Given the description of an element on the screen output the (x, y) to click on. 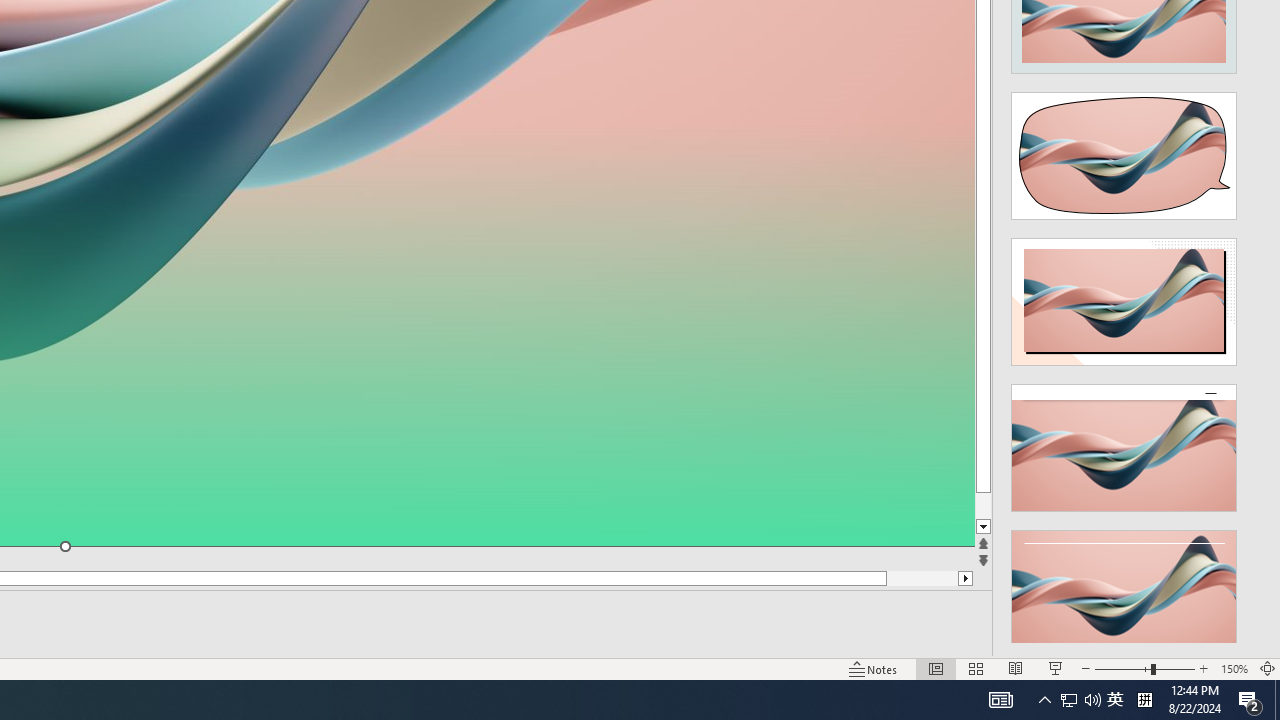
Zoom 150% (1234, 668)
Design Idea (1124, 587)
